Given the description of an element on the screen output the (x, y) to click on. 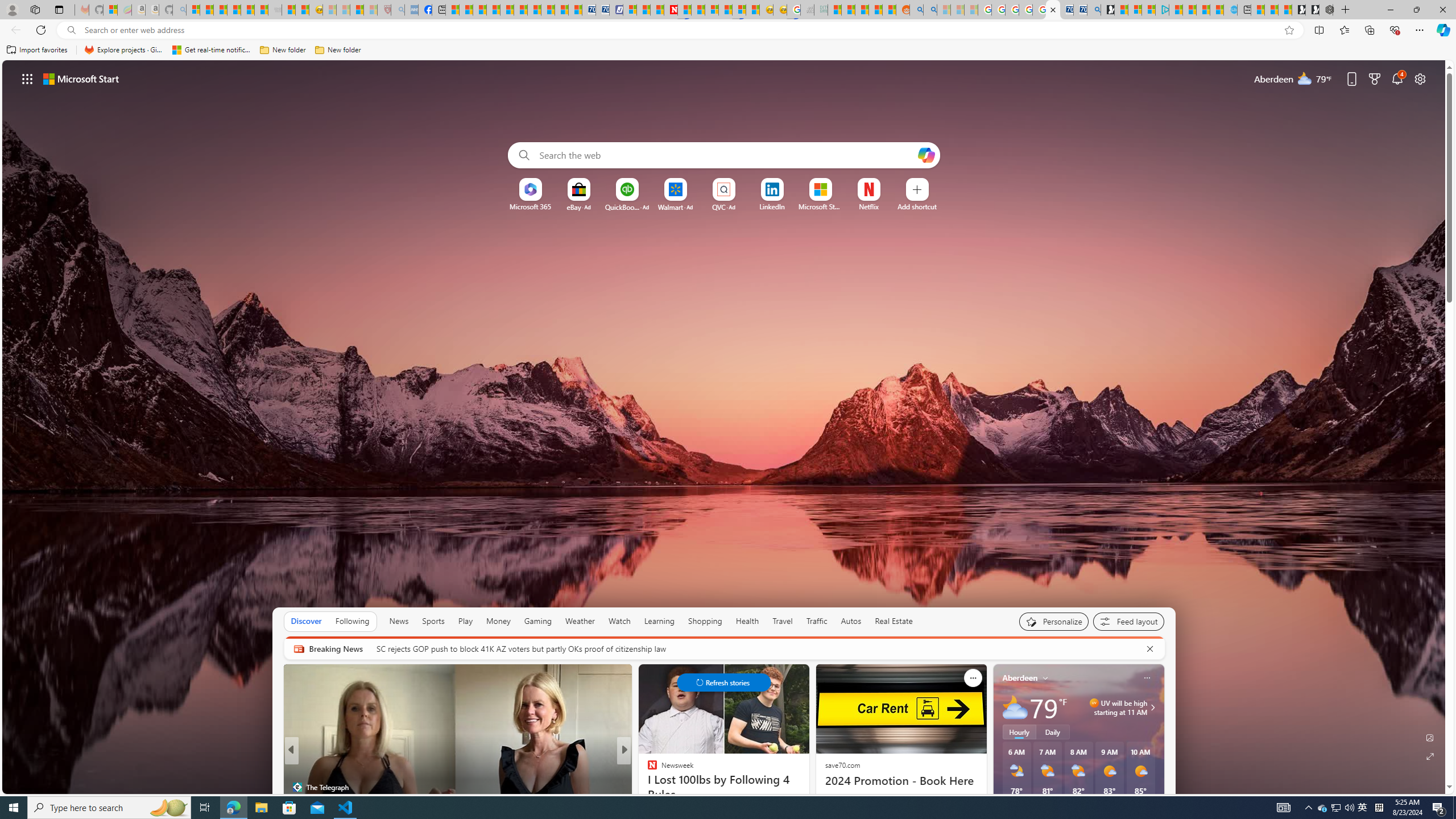
Real Estate (893, 621)
New Report Confirms 2023 Was Record Hot | Watch (247, 9)
Sports (432, 621)
UV will be high starting at 11 AM (1150, 707)
Play Free Online Games | Games from Microsoft Start (1311, 9)
Traffic (816, 621)
See more (972, 678)
Notifications (1397, 78)
